Given the description of an element on the screen output the (x, y) to click on. 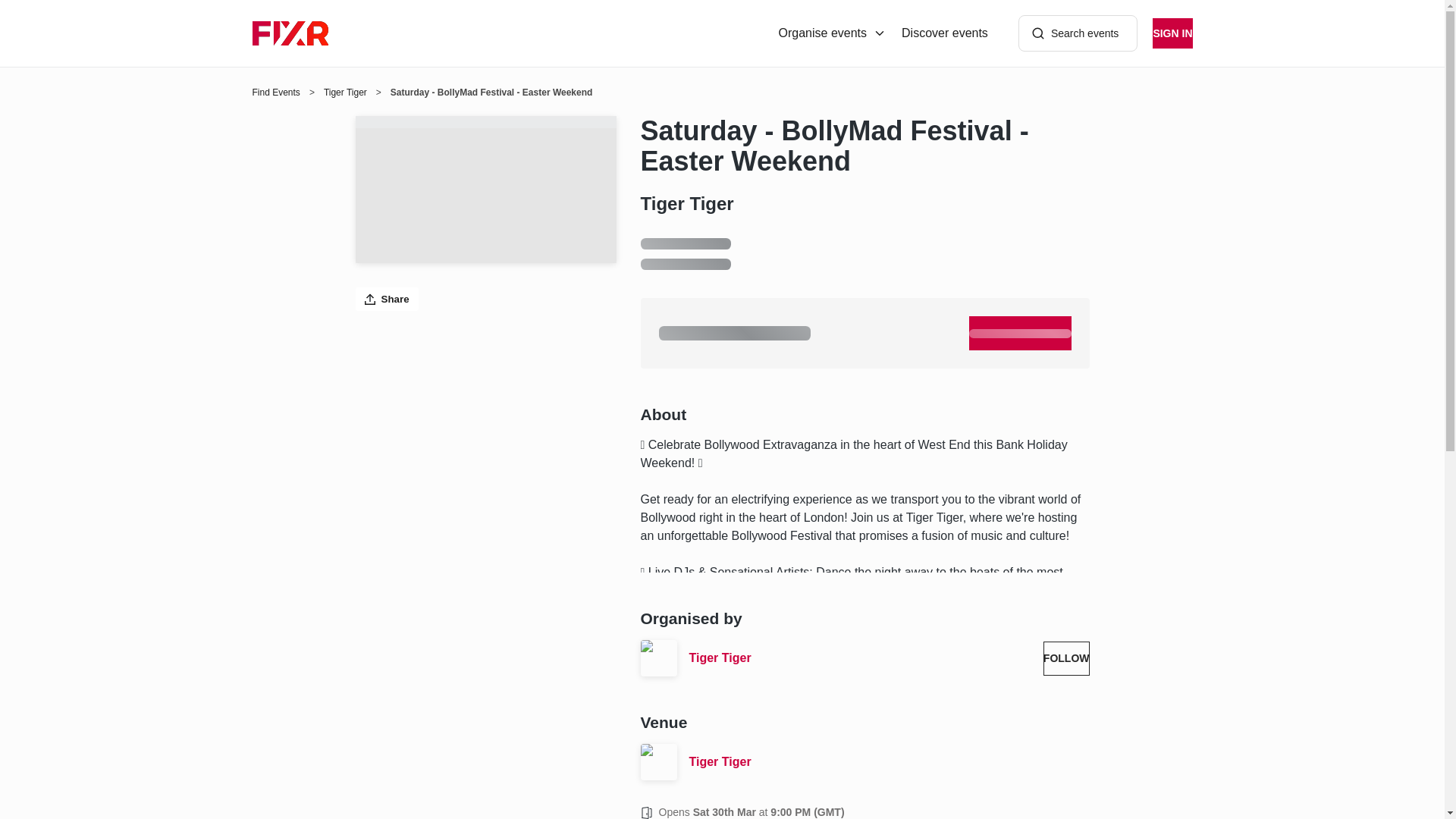
Organise events (832, 33)
Find Events (275, 92)
Discover events (944, 33)
Tiger Tiger (859, 658)
Tiger Tiger (888, 761)
PLACEHOLDER TEXT (1020, 333)
Saturday - BollyMad Festival - Easter Weekend (864, 146)
FOLLOW (1066, 658)
Search events (1077, 33)
SIGN IN (1172, 33)
Share (386, 298)
Tiger Tiger (344, 92)
